Given the description of an element on the screen output the (x, y) to click on. 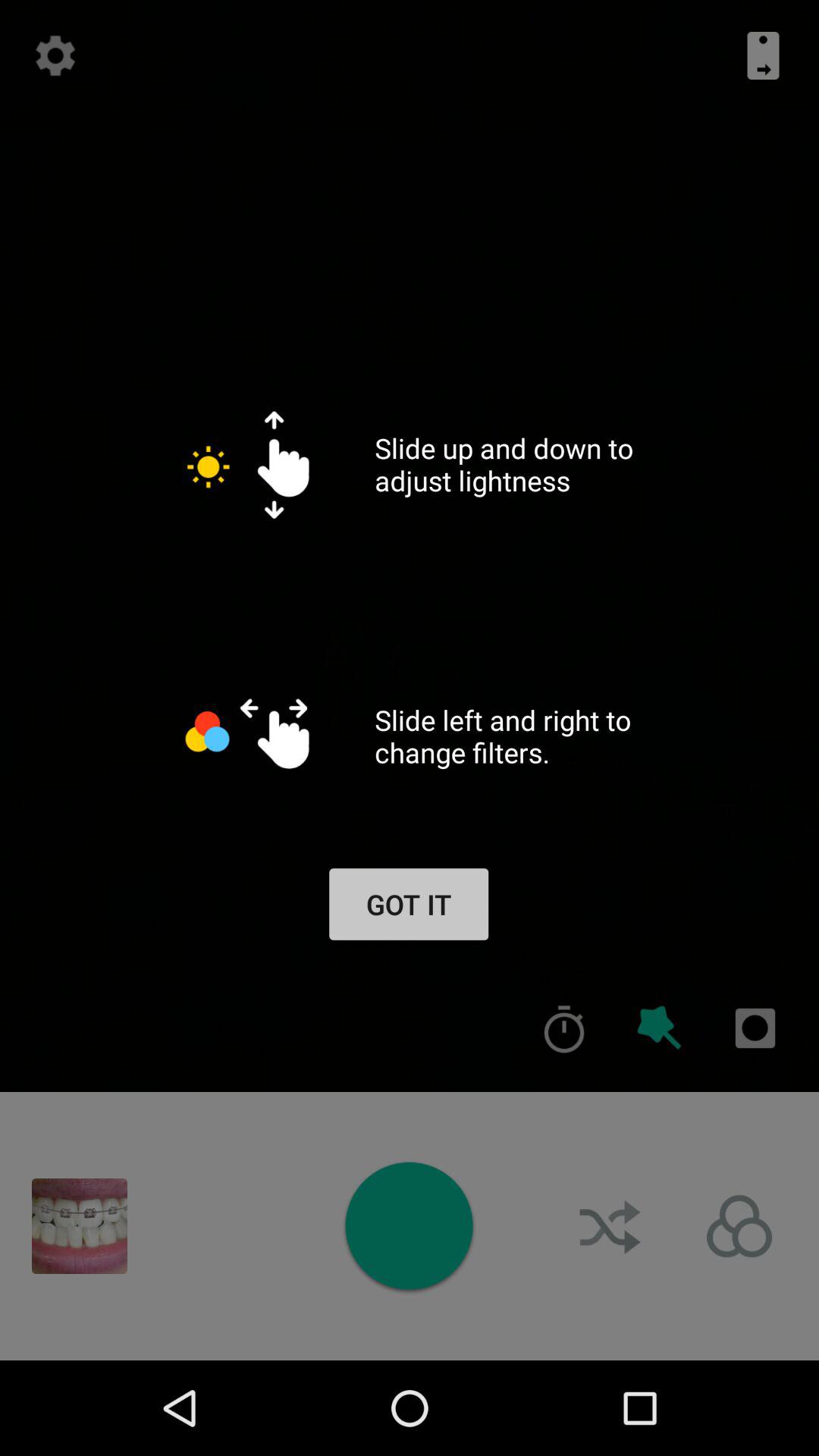
three circles connected to one another for changing filters (739, 1226)
